Given the description of an element on the screen output the (x, y) to click on. 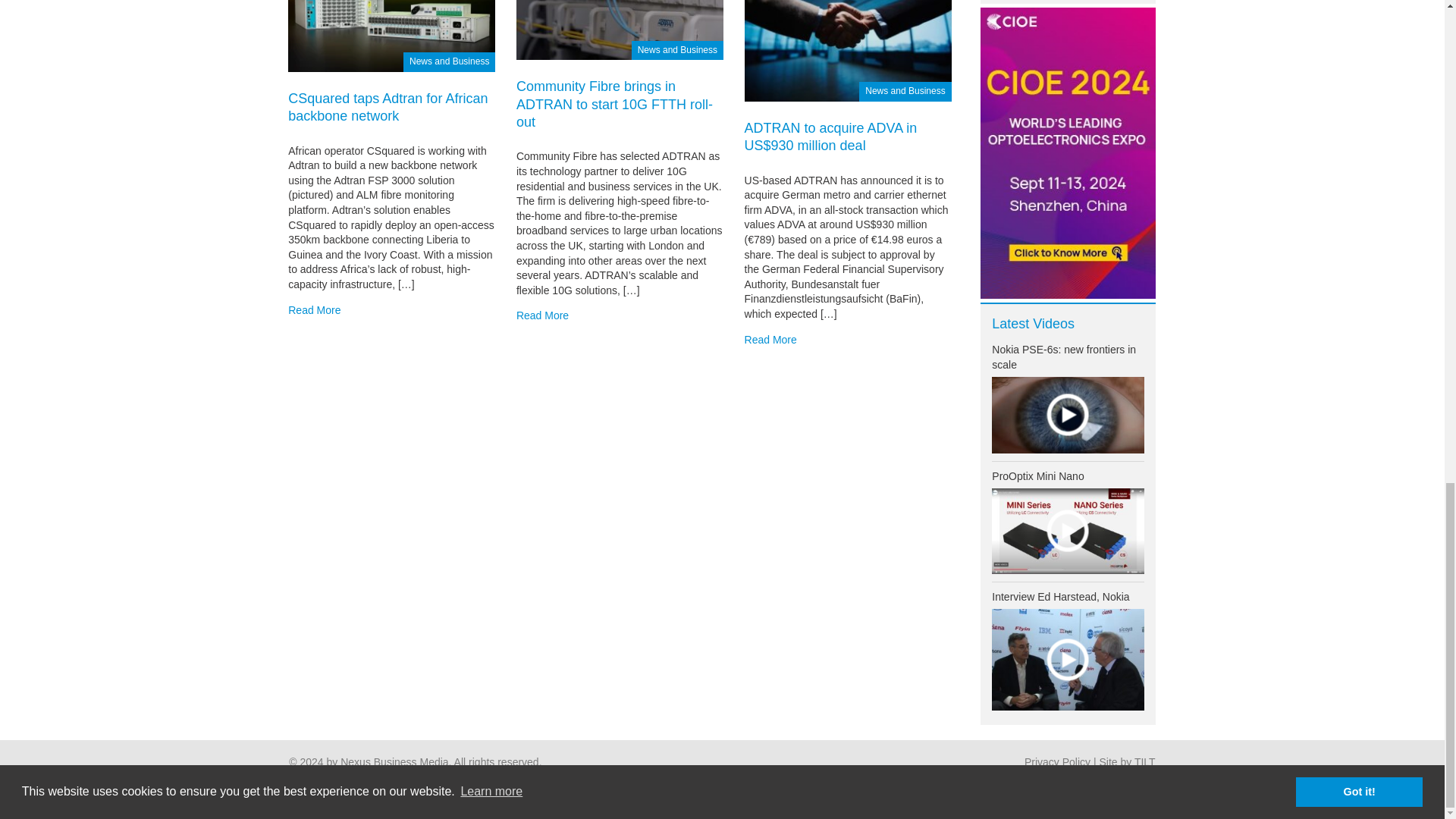
Web Design Kent (1145, 761)
CSquared taps Adtran for African backbone network (391, 16)
Community Fibre brings in ADTRAN to start 10G FTTH roll-out (619, 10)
CSquared taps Adtran for African backbone network (387, 106)
Community Fibre brings in ADTRAN to start 10G FTTH roll-out (614, 103)
Read More (314, 309)
